Given the description of an element on the screen output the (x, y) to click on. 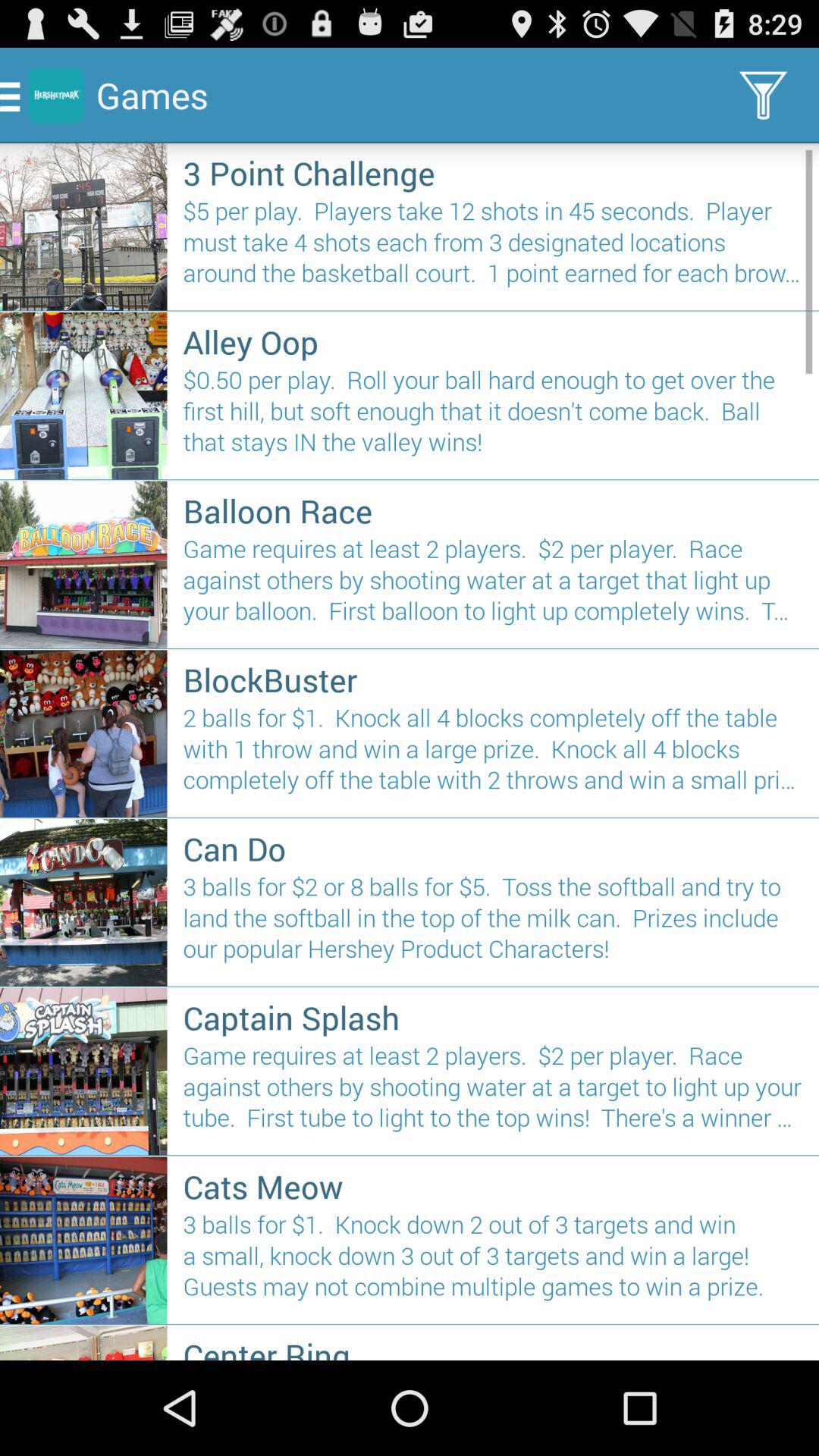
click the item below 3 balls for icon (493, 1346)
